Given the description of an element on the screen output the (x, y) to click on. 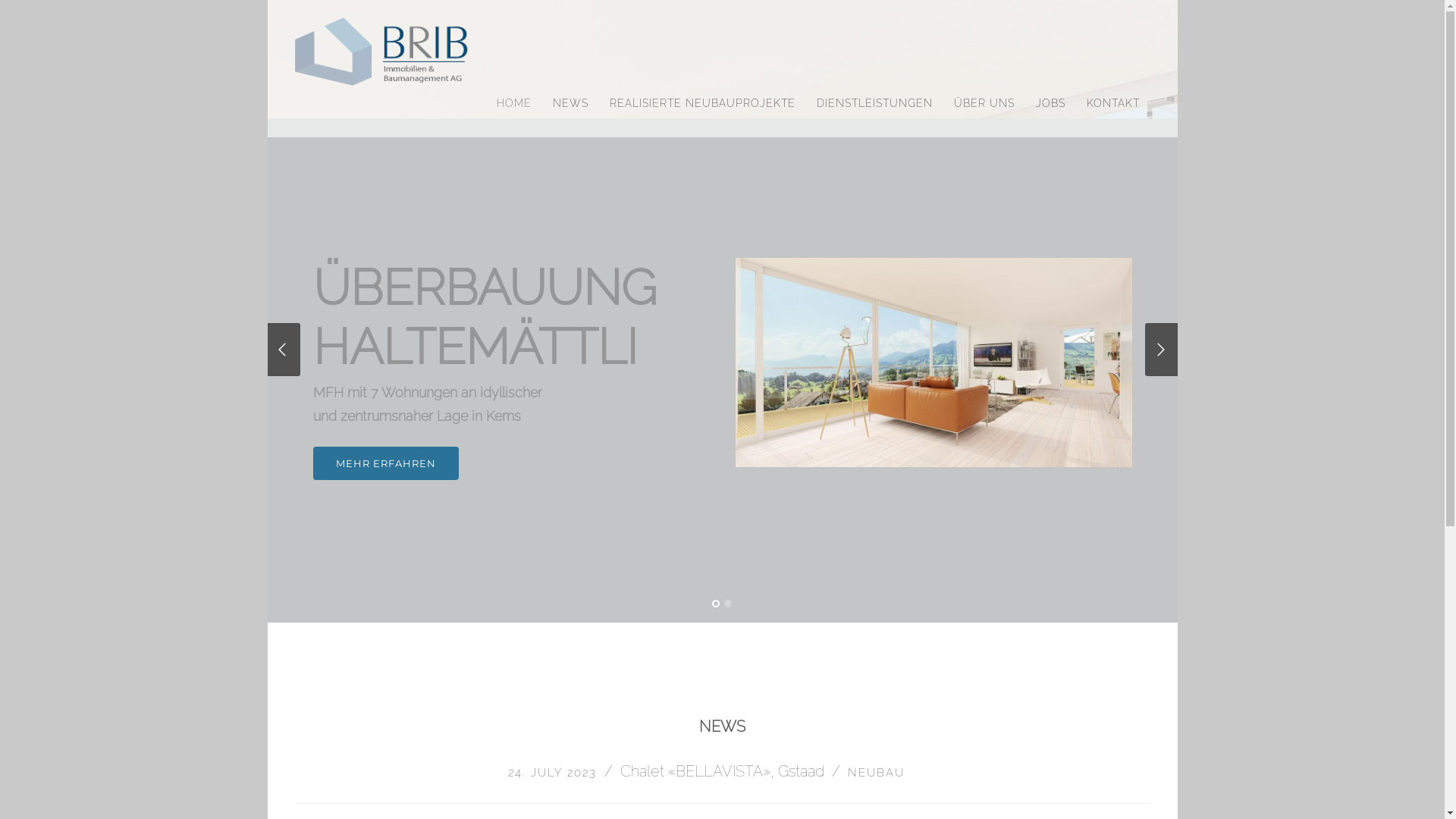
HOME Element type: text (513, 103)
NEUBAU Element type: text (875, 772)
MEHR ERFAHREN Element type: text (385, 463)
DIENSTLEISTUNGEN Element type: text (873, 103)
KONTAKT Element type: text (1112, 103)
NEWS Element type: text (569, 103)
REALISIERTE NEUBAUPROJEKTE Element type: text (702, 103)
JOBS Element type: text (1050, 103)
